Given the description of an element on the screen output the (x, y) to click on. 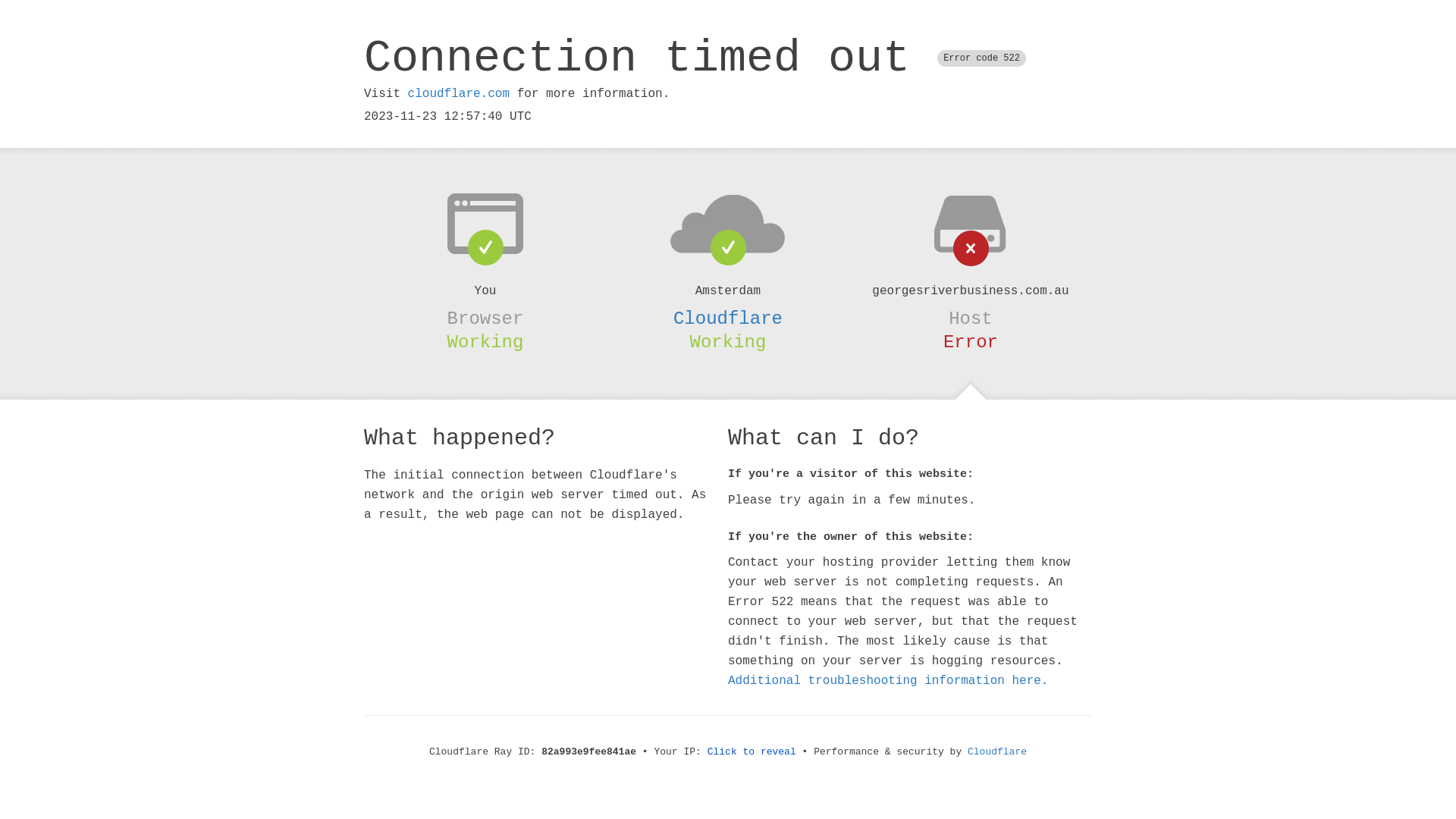
Cloudflare Element type: text (727, 318)
Additional troubleshooting information here. Element type: text (888, 680)
Cloudflare Element type: text (996, 751)
Click to reveal Element type: text (751, 751)
cloudflare.com Element type: text (458, 93)
